Given the description of an element on the screen output the (x, y) to click on. 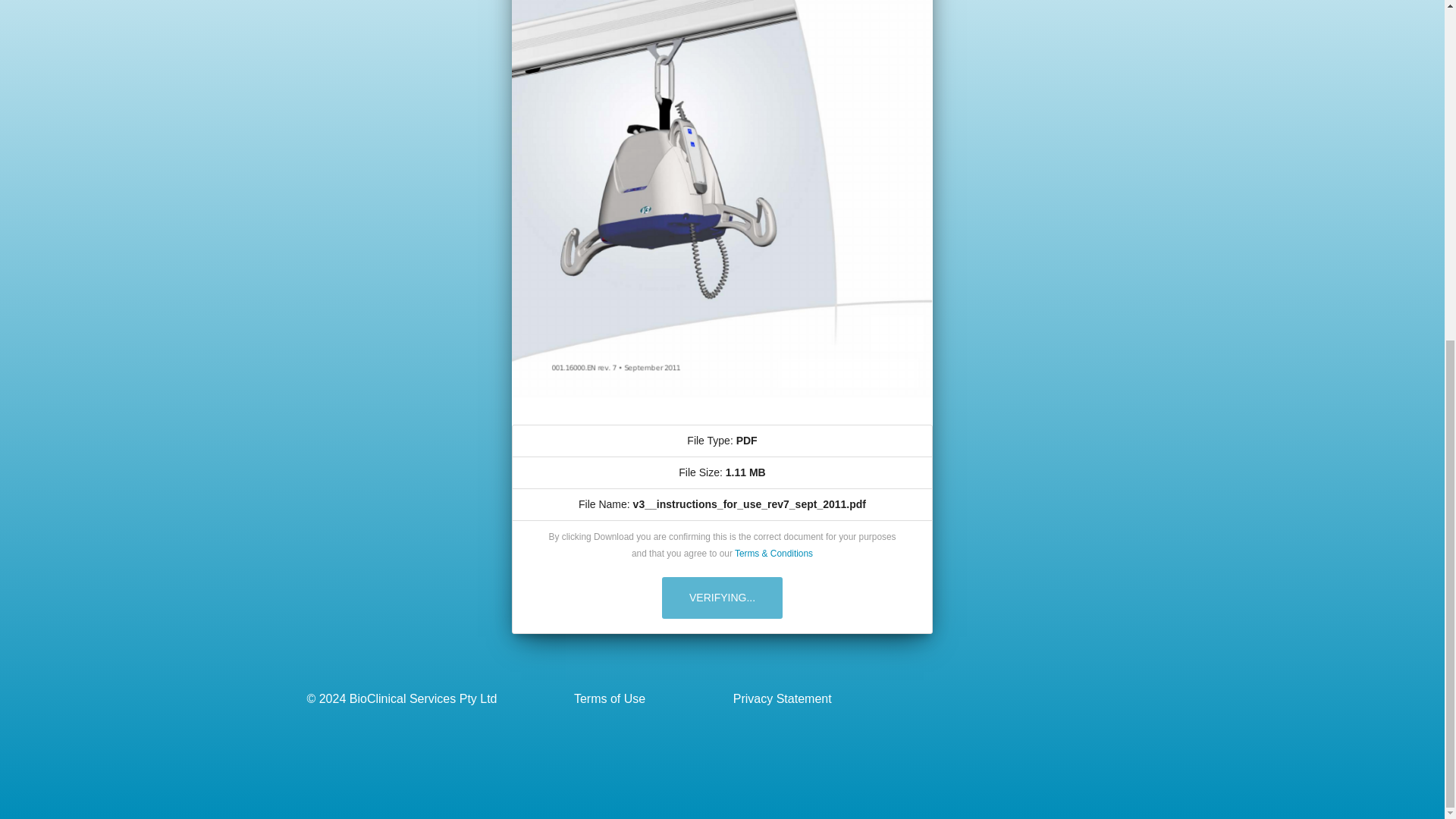
VERIFYING... (722, 598)
Privacy Statement (771, 698)
Terms of Use (599, 698)
